Given the description of an element on the screen output the (x, y) to click on. 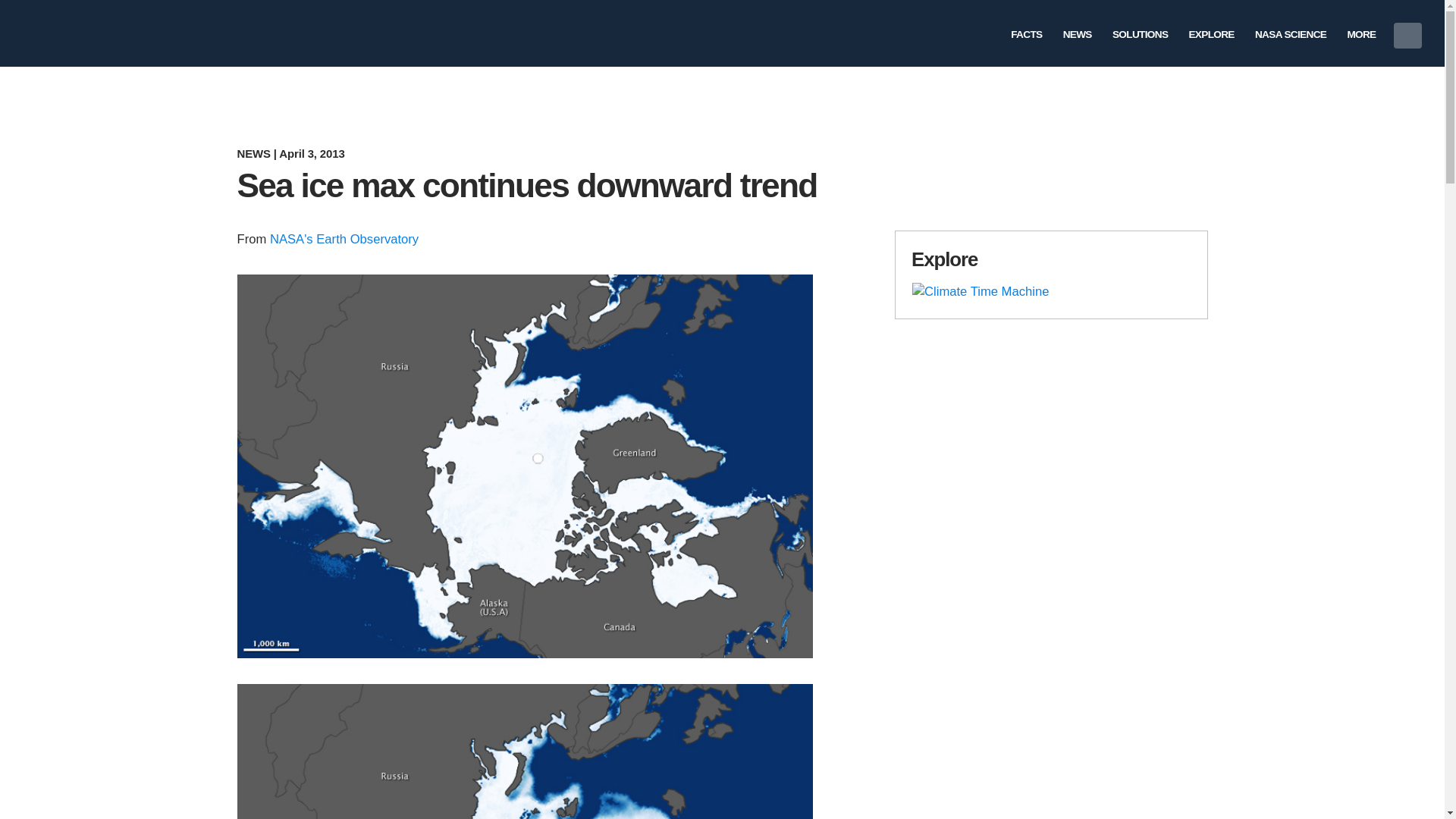
NASA (51, 33)
visit nasa.gov (51, 33)
Home (182, 33)
FACTS (1026, 31)
Global Climate Change (182, 33)
